Given the description of an element on the screen output the (x, y) to click on. 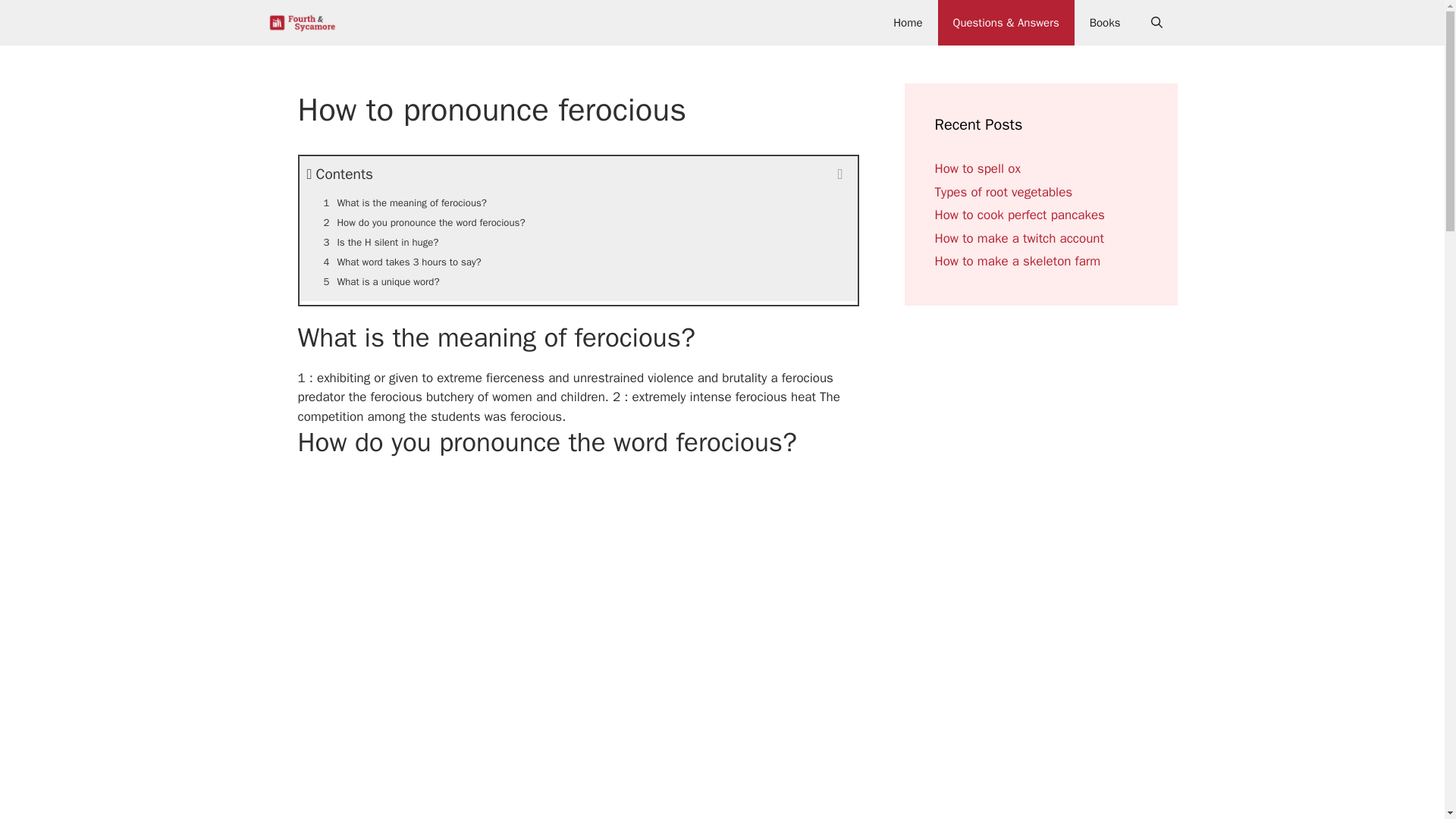
What word takes 3 hours to say? (577, 261)
Is the H silent in huge? (577, 242)
Home (907, 22)
How do you pronounce the word ferocious? (577, 222)
What is the meaning of ferocious? (577, 202)
Books (1104, 22)
What is a unique word? (577, 281)
